Given the description of an element on the screen output the (x, y) to click on. 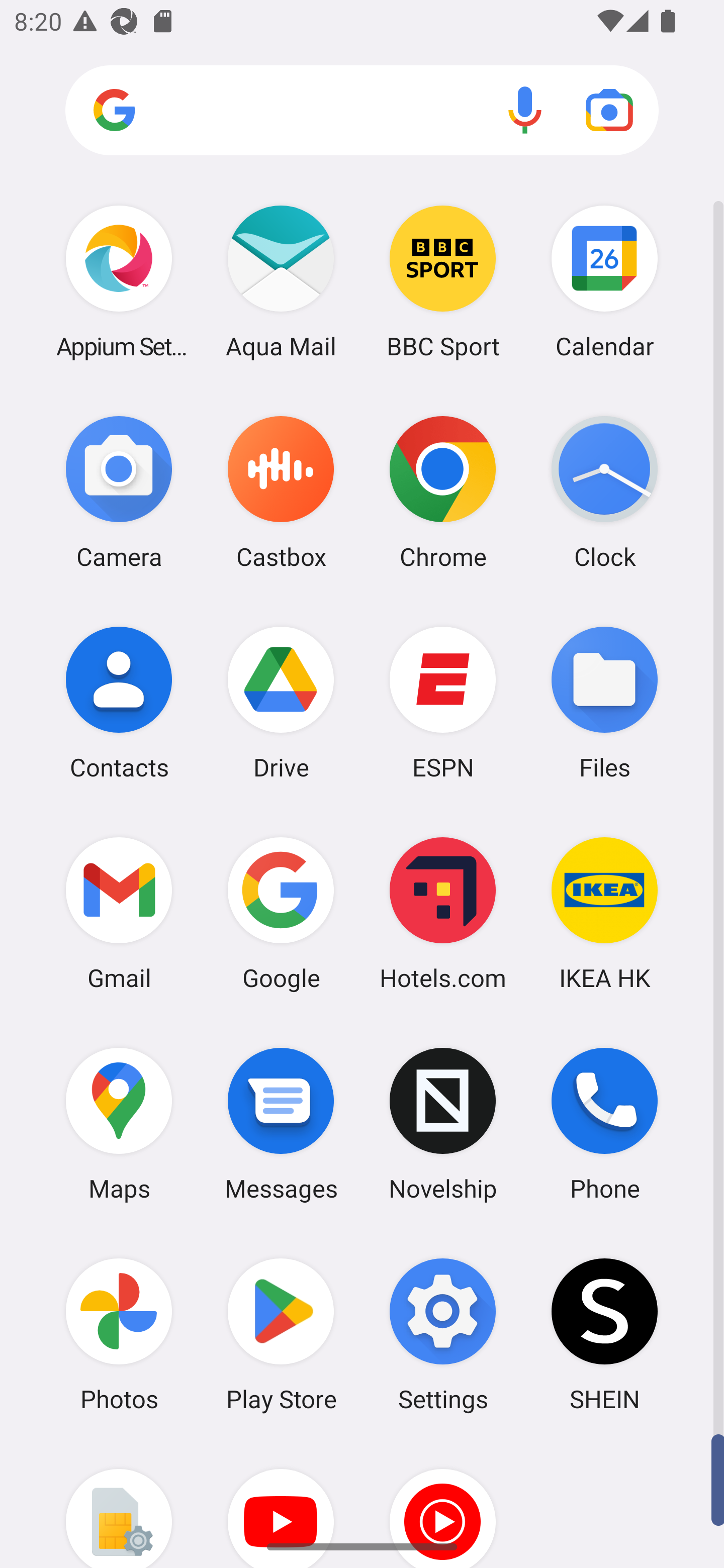
Search apps, web and more (361, 110)
Voice search (524, 109)
Google Lens (608, 109)
Appium Settings (118, 281)
Aqua Mail (280, 281)
BBC Sport (443, 281)
Calendar (604, 281)
Camera (118, 492)
Castbox (280, 492)
Chrome (443, 492)
Clock (604, 492)
Contacts (118, 702)
Drive (280, 702)
ESPN (443, 702)
Files (604, 702)
Gmail (118, 913)
Google (280, 913)
Hotels.com (443, 913)
IKEA HK (604, 913)
Maps (118, 1124)
Messages (280, 1124)
Novelship (443, 1124)
Phone (604, 1124)
Photos (118, 1334)
Play Store (280, 1334)
Settings (443, 1334)
SHEIN (604, 1334)
TMoble (118, 1503)
YouTube (280, 1503)
YT Music (443, 1503)
